Given the description of an element on the screen output the (x, y) to click on. 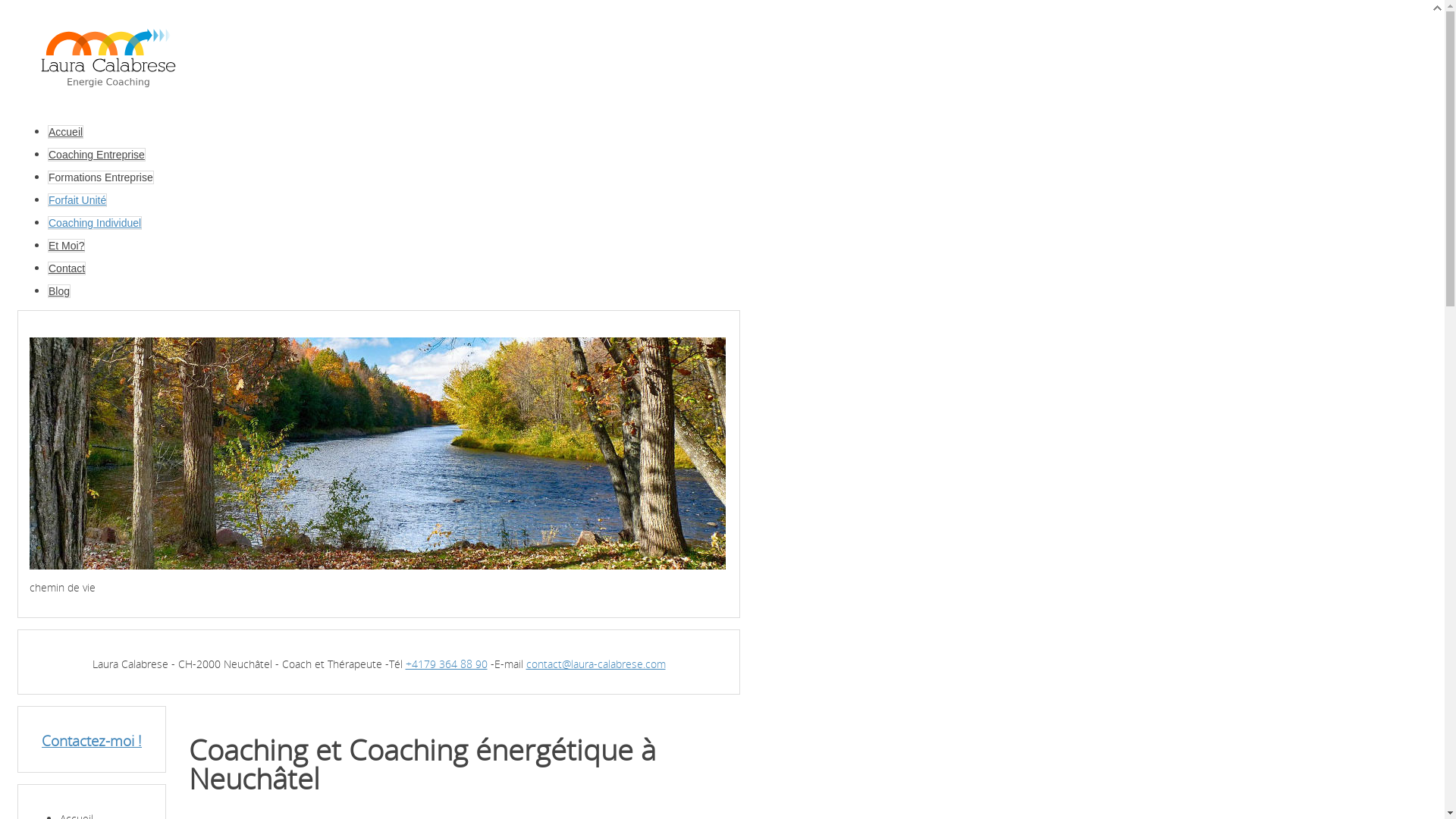
Blog Element type: text (58, 291)
Accueil Element type: text (65, 131)
Formations Entreprise Element type: text (100, 177)
Et Moi? Element type: text (65, 245)
Contactez-moi ! Element type: text (91, 740)
Coaching Individuel Element type: text (94, 222)
contact@laura-calabrese.com Element type: text (595, 663)
Contact Element type: text (66, 268)
Coaching Entreprise Element type: text (96, 154)
+4179 364 88 90 Element type: text (445, 663)
